Given the description of an element on the screen output the (x, y) to click on. 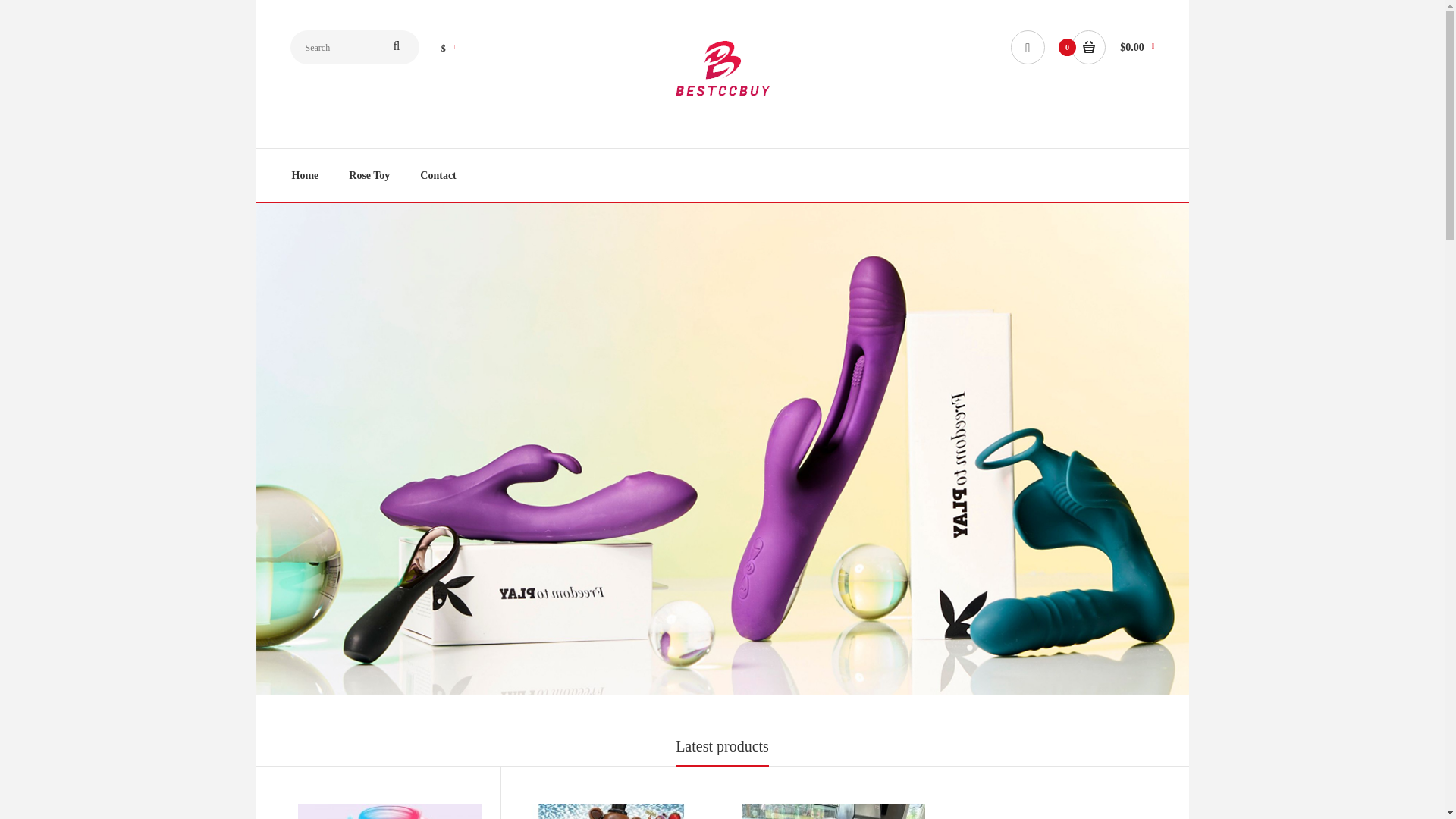
bestccbuy (722, 71)
